Given the description of an element on the screen output the (x, y) to click on. 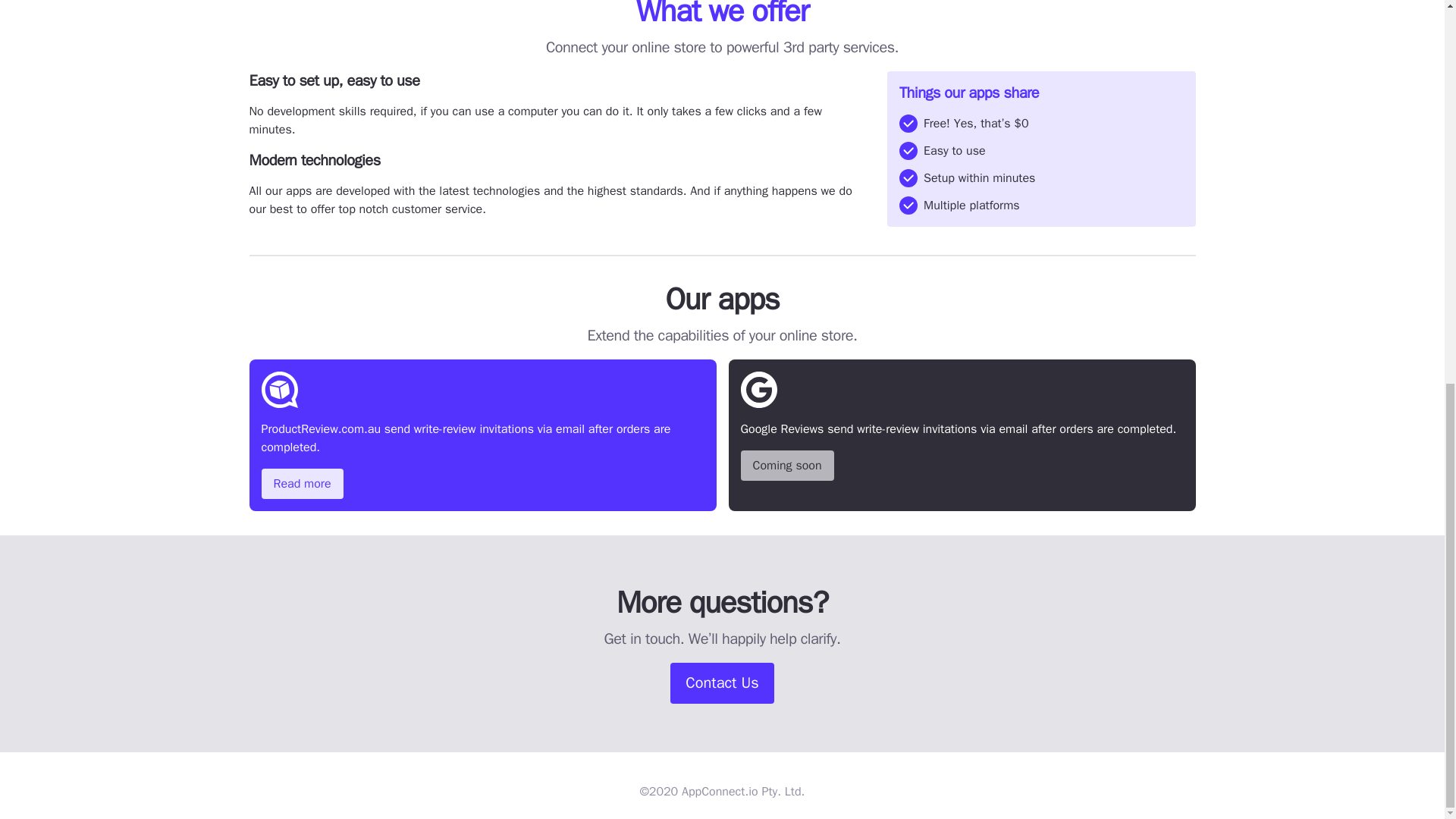
Contact Us (721, 682)
Read more (301, 483)
